Given the description of an element on the screen output the (x, y) to click on. 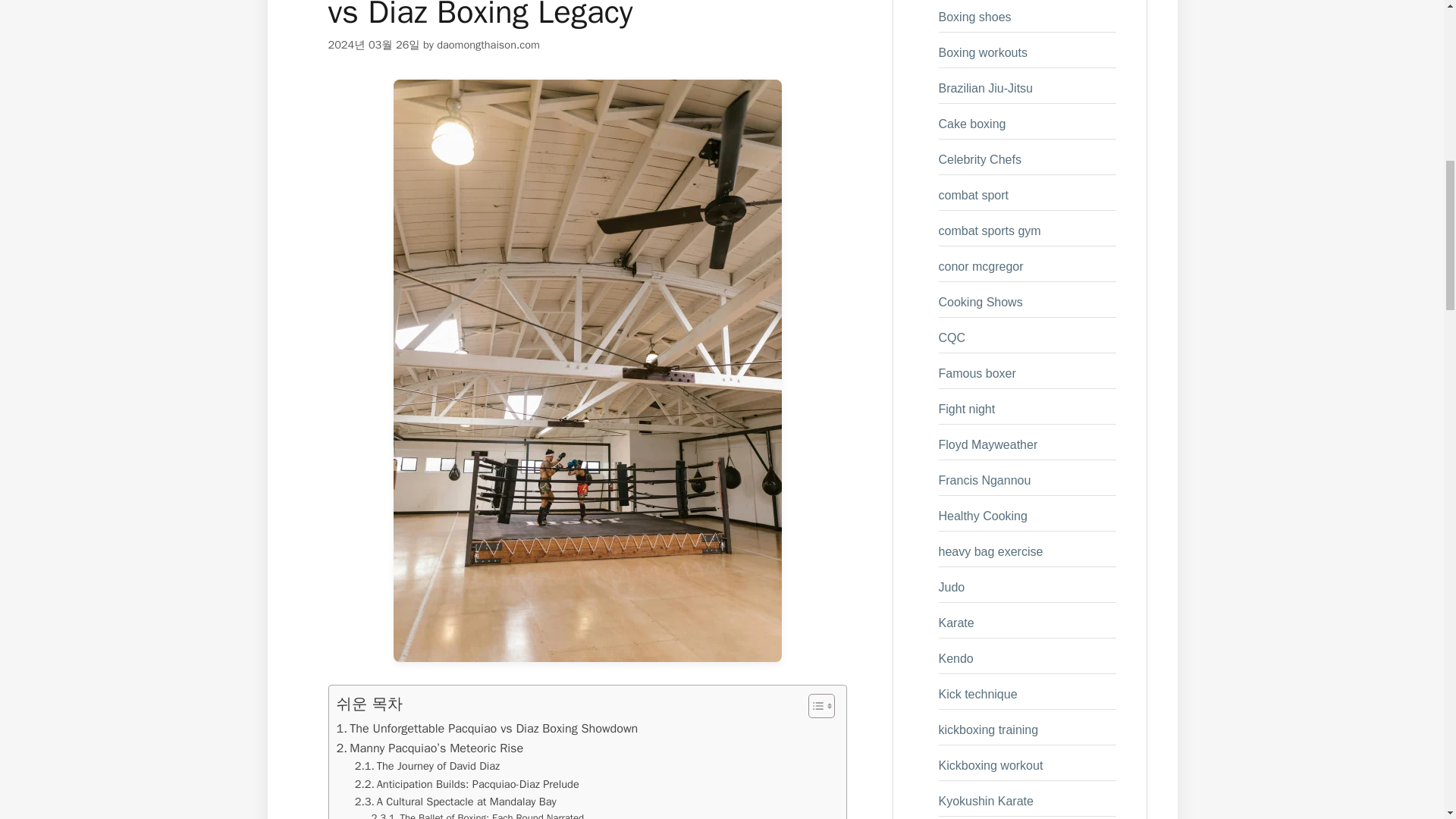
daomongthaison.com (488, 44)
The Ballet of Boxing: Each Round Narrated (478, 814)
Anticipation Builds: Pacquiao-Diaz Prelude (467, 784)
View all posts by daomongthaison.com (488, 44)
The Unforgettable Pacquiao vs Diaz Boxing Showdown (487, 728)
The Journey of David Diaz (427, 765)
The Ballet of Boxing: Each Round Narrated (478, 814)
A Cultural Spectacle at Mandalay Bay (455, 801)
A Cultural Spectacle at Mandalay Bay (455, 801)
Anticipation Builds: Pacquiao-Diaz Prelude (467, 784)
The Unforgettable Pacquiao vs Diaz Boxing Showdown (487, 728)
The Journey of David Diaz (427, 765)
